Given the description of an element on the screen output the (x, y) to click on. 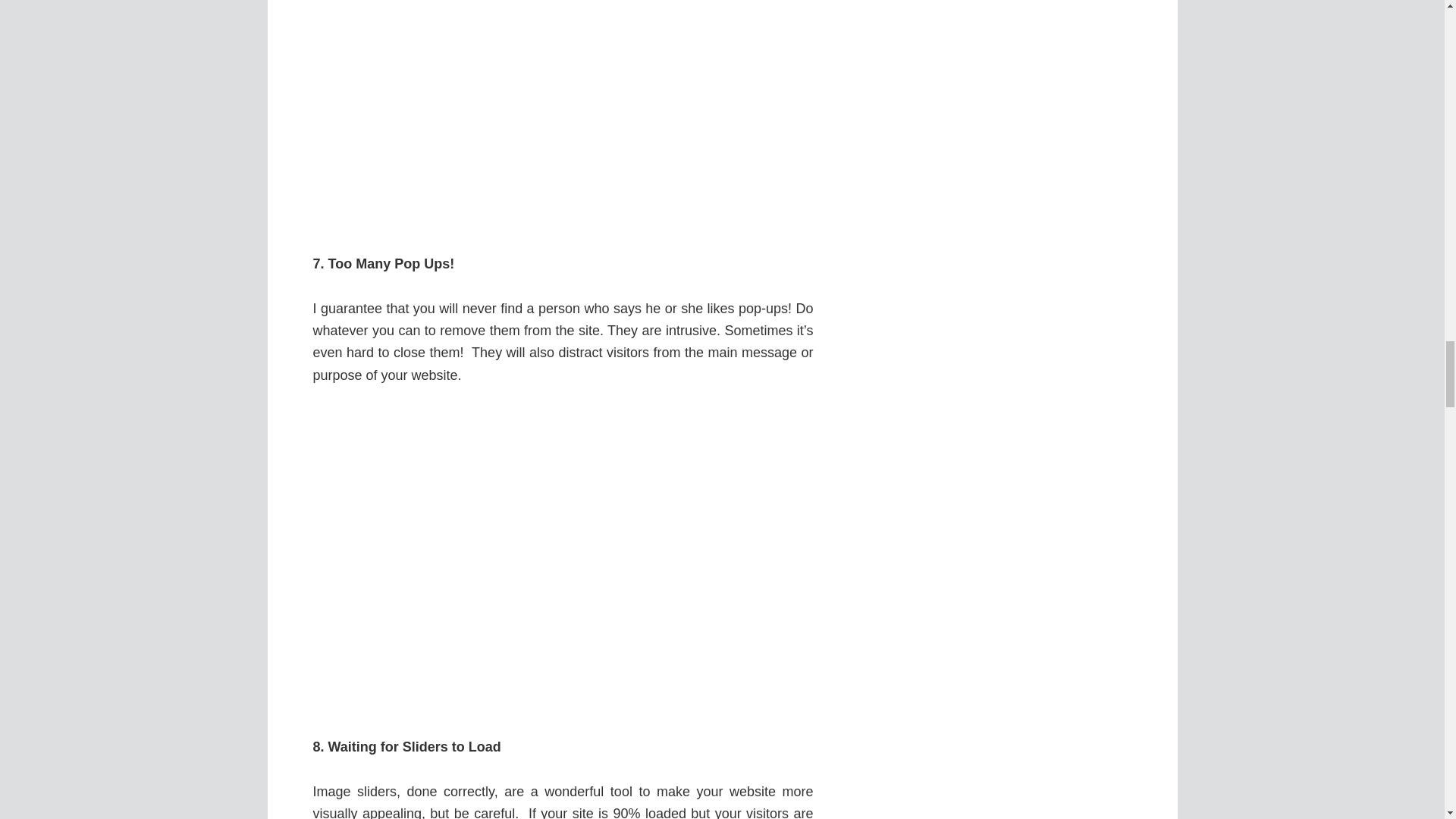
17 Things That Drive Us Crazy About Your Website 5 (562, 561)
17 Things That Drive Us Crazy About Your Website 4 (562, 115)
